Given the description of an element on the screen output the (x, y) to click on. 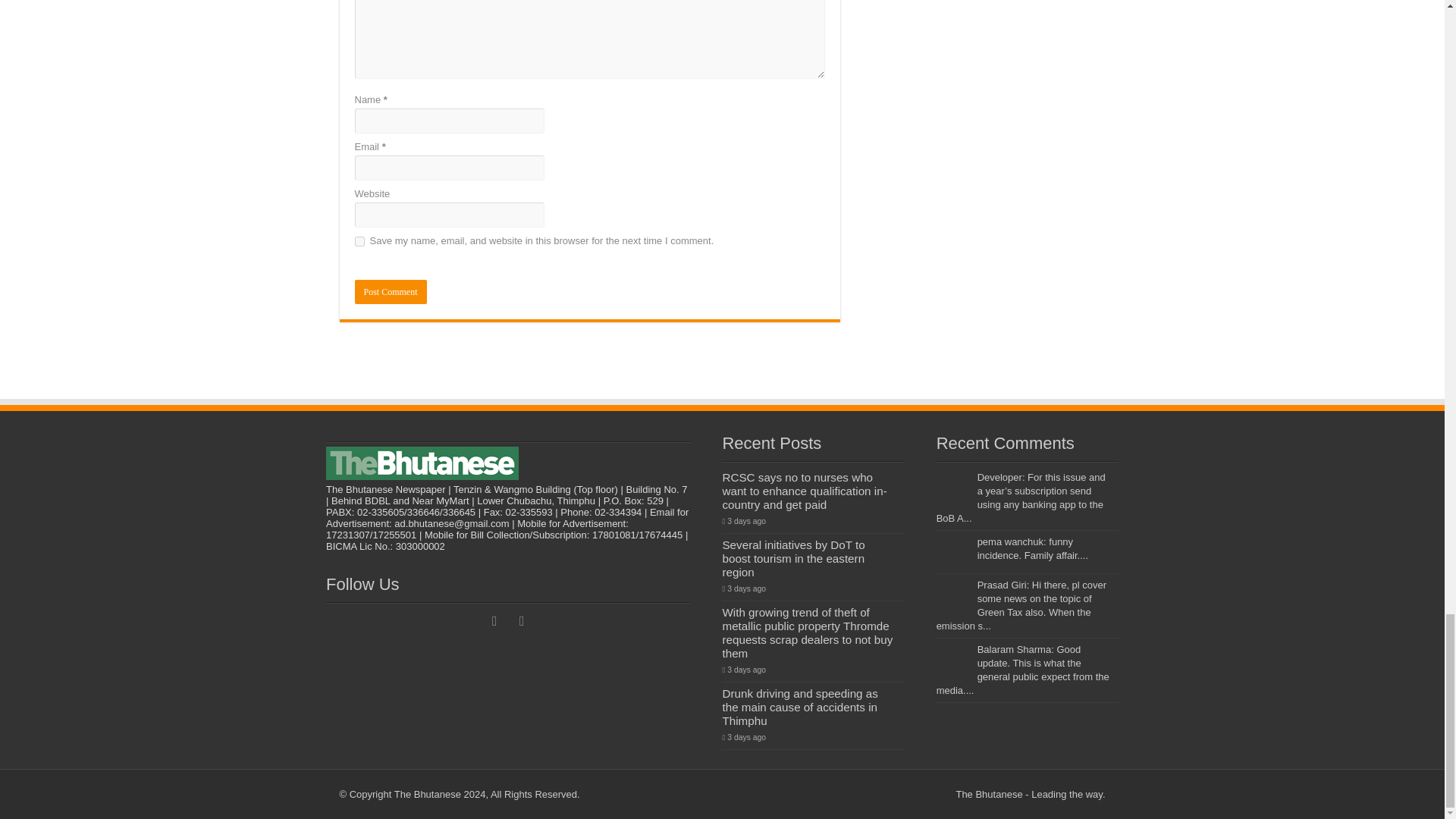
Post Comment (390, 291)
yes (360, 241)
